Given the description of an element on the screen output the (x, y) to click on. 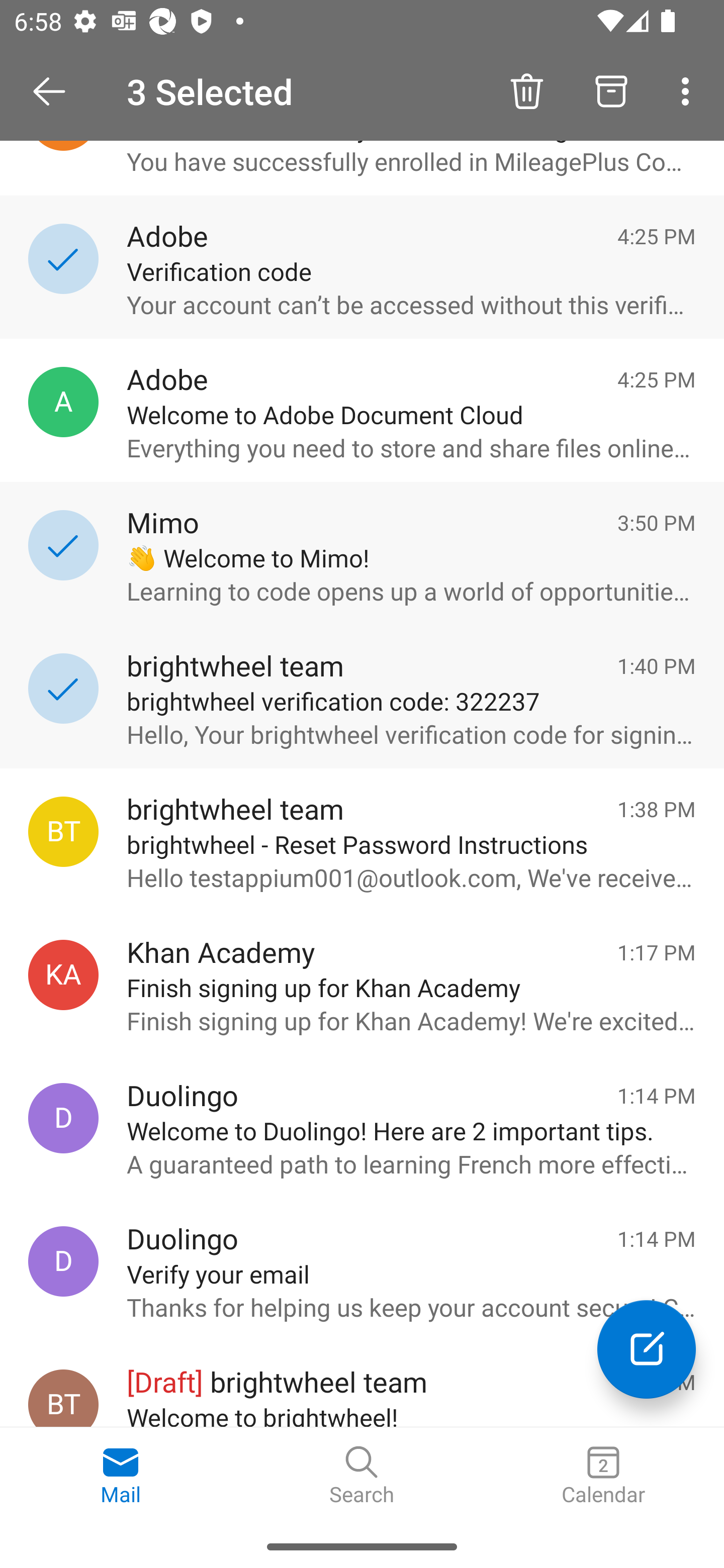
Delete (526, 90)
Archive (611, 90)
More options (688, 90)
Open Navigation Drawer (55, 91)
Adobe, message@adobe.com (63, 401)
brightwheel team, recovery@mybrightwheel.com (63, 831)
Khan Academy, no-reply@khanacademy.org (63, 974)
Duolingo, hello@duolingo.com (63, 1118)
Duolingo, hello@duolingo.com (63, 1261)
Compose (646, 1348)
brightwheel team, welcome@mybrightwheel.com (63, 1397)
Search (361, 1475)
Calendar (603, 1475)
